Given the description of an element on the screen output the (x, y) to click on. 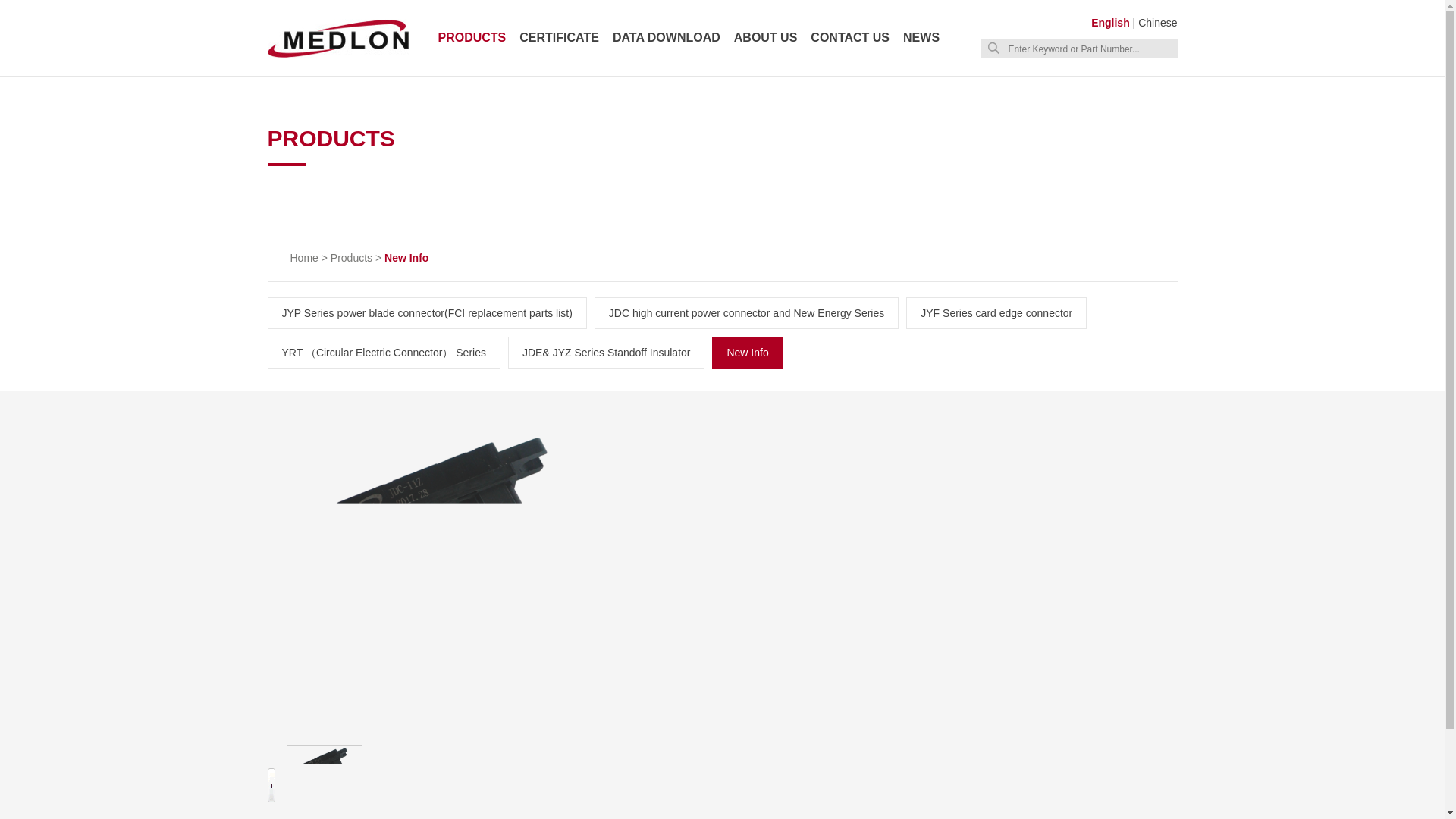
About us (765, 37)
Chinese (1157, 22)
Contact us (849, 37)
CONTACT US (849, 37)
Certificate (558, 37)
English (1109, 22)
News (920, 37)
CERTIFICATE (558, 37)
PRODUCTS (472, 37)
Data download (666, 37)
